Given the description of an element on the screen output the (x, y) to click on. 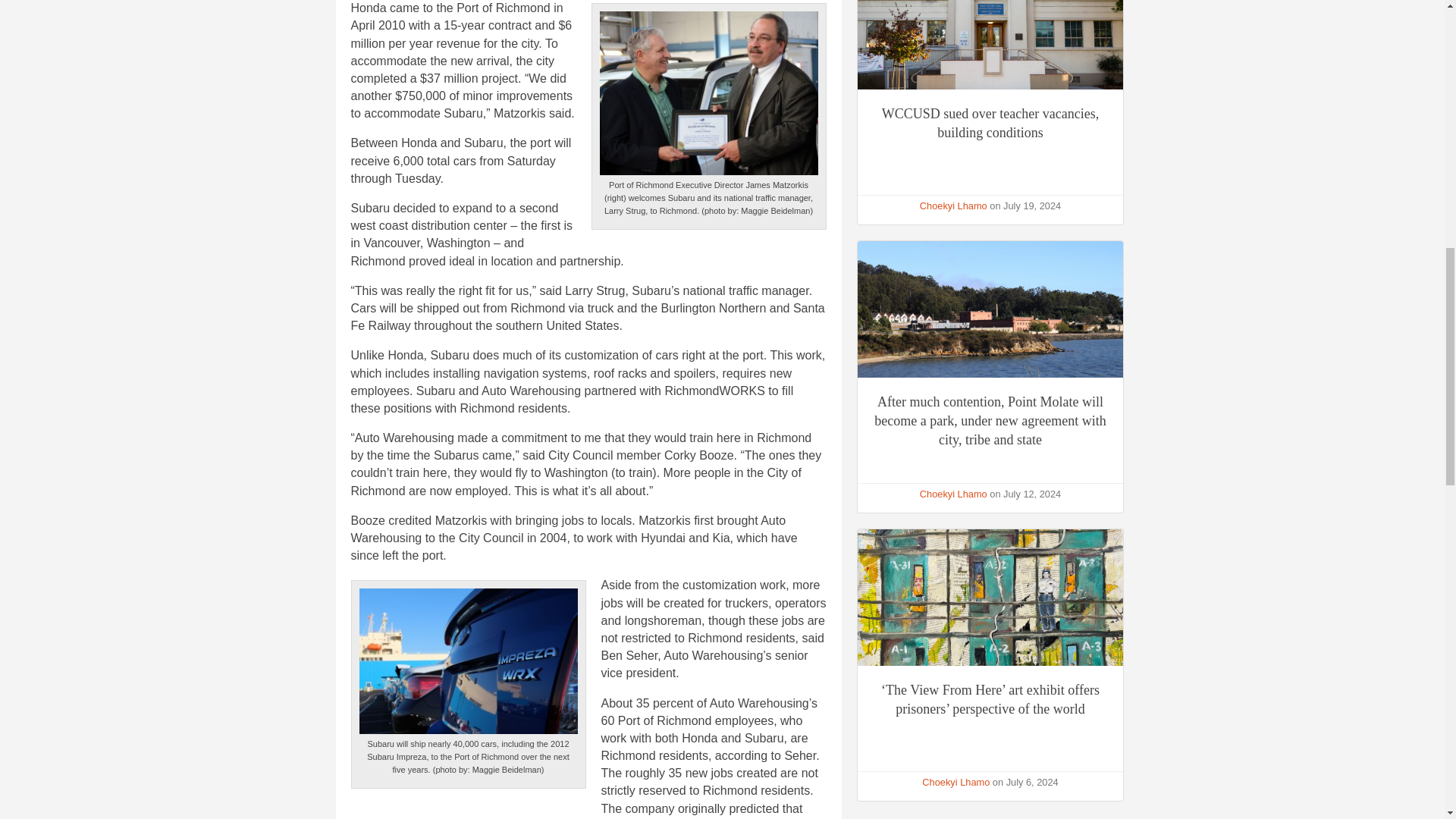
Choekyi Lhamo (955, 781)
Choekyi Lhamo (953, 205)
Choekyi Lhamo (953, 493)
WCCUSD sued over teacher vacancies, building conditions (990, 123)
